Given the description of an element on the screen output the (x, y) to click on. 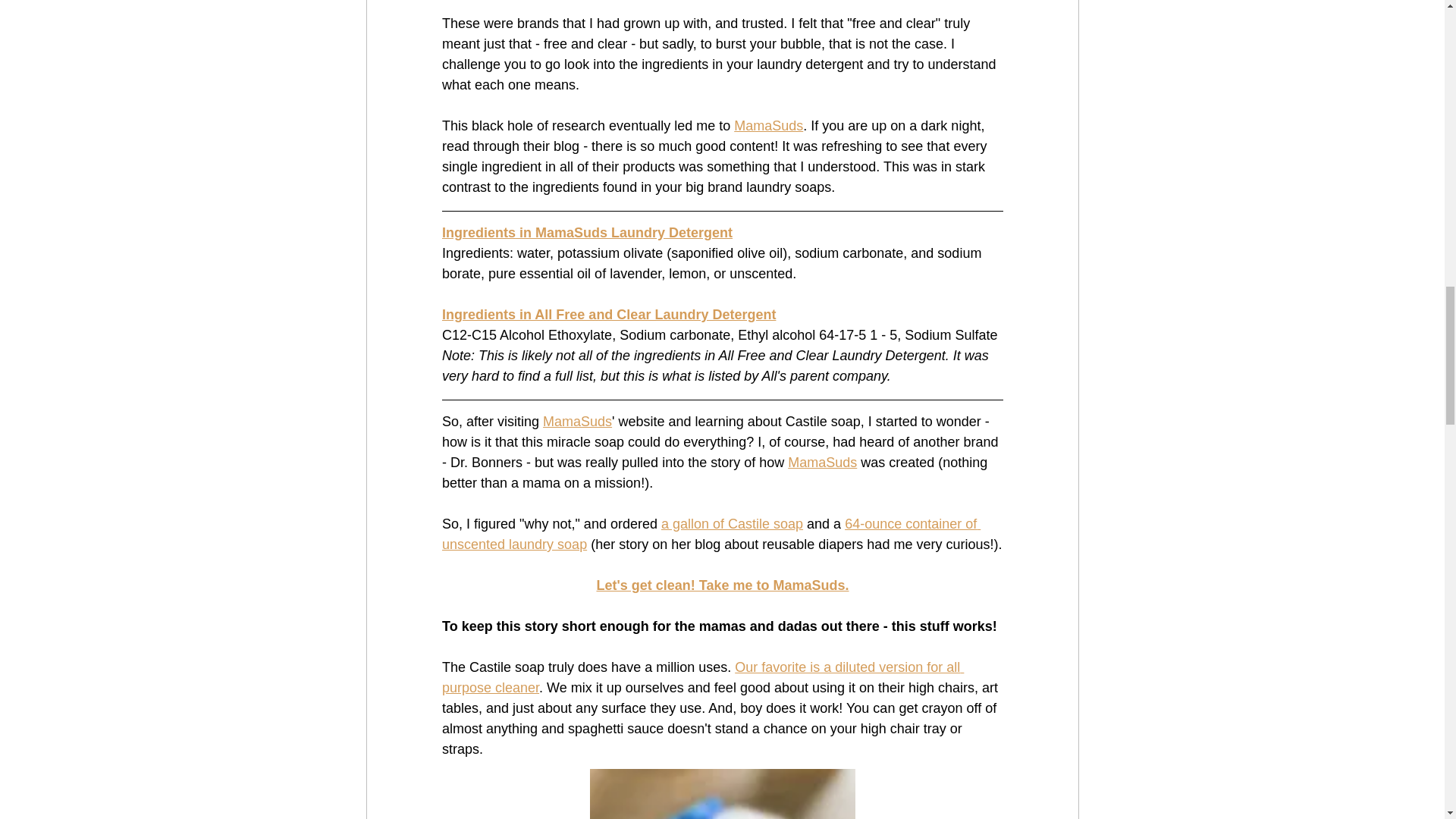
MamaSuds (577, 421)
Let's get clean! Take me to MamaSuds. (721, 585)
MamaSuds (822, 462)
Ingredients in All Free and Clear Laundry Detergent (607, 314)
a gallon of Castile soap (731, 523)
Our favorite is a diluted version for all purpose cleaner (701, 677)
64-ounce container of unscented laundry soap (710, 534)
MamaSuds (768, 125)
Ingredients in MamaSuds Laundry Detergent (586, 232)
